Given the description of an element on the screen output the (x, y) to click on. 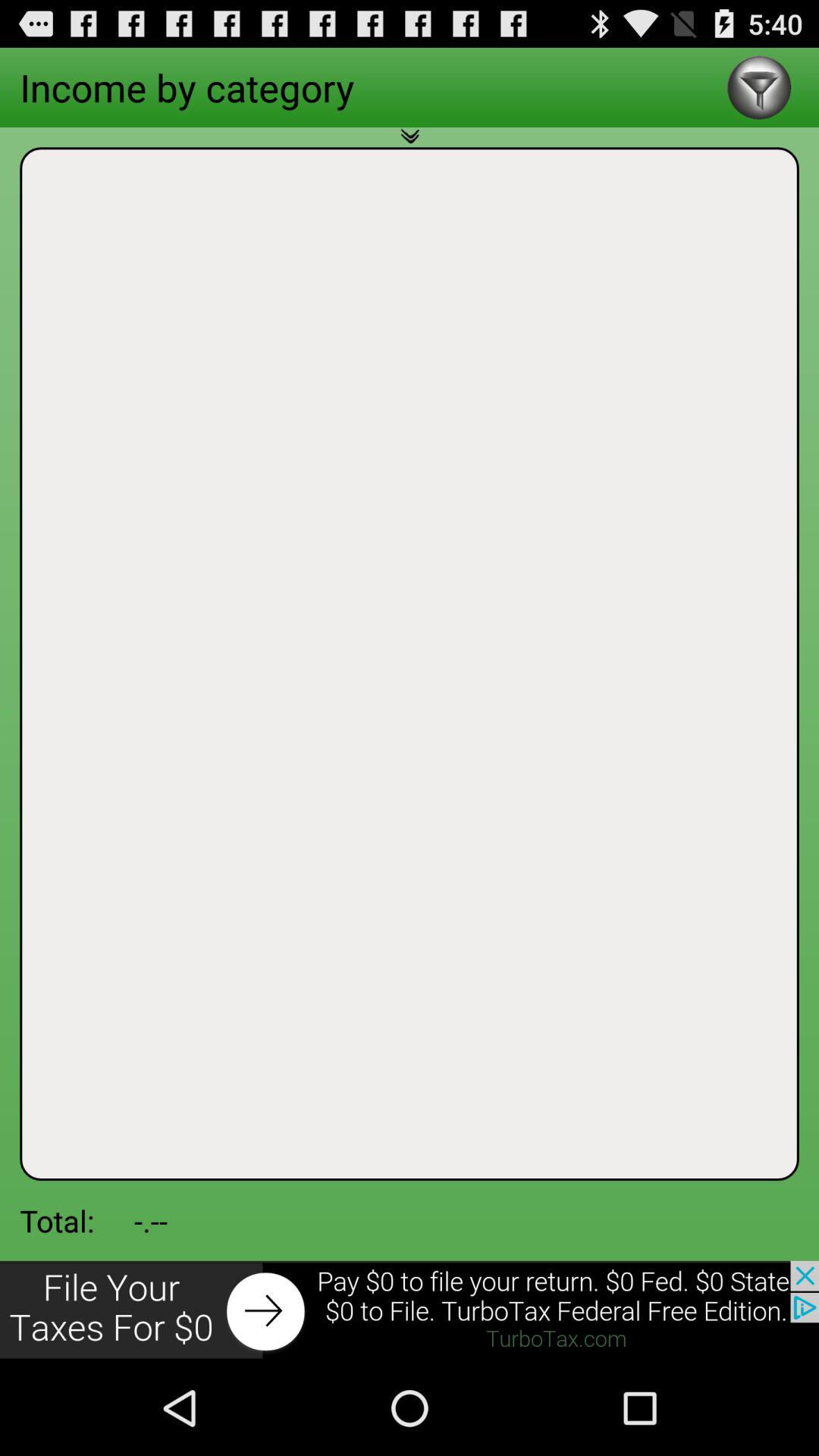
view advertisement (409, 1310)
